Given the description of an element on the screen output the (x, y) to click on. 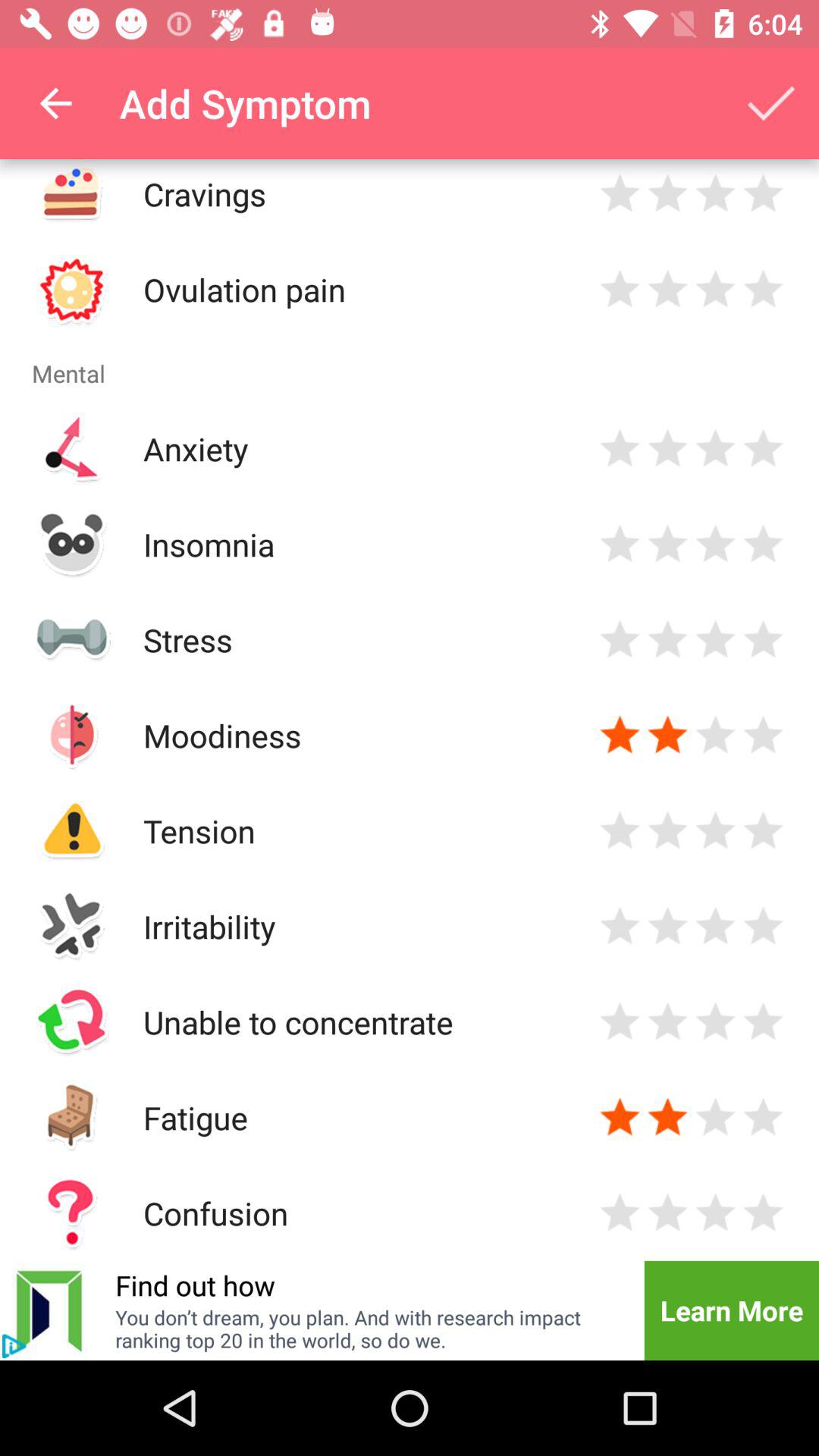
rate symptom 4 stars (763, 830)
